Given the description of an element on the screen output the (x, y) to click on. 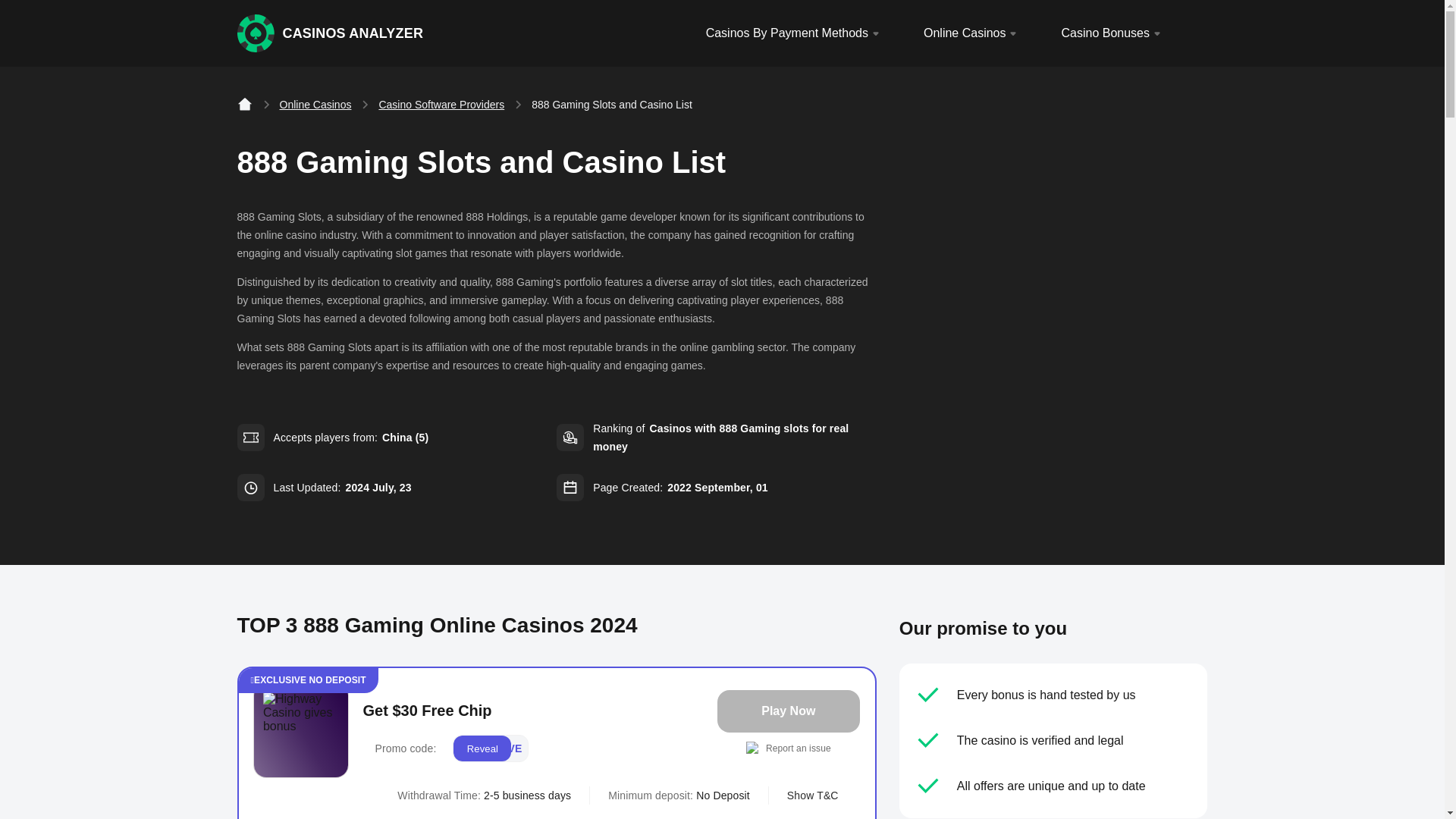
Highway Casino (300, 729)
Casinos By Payment Methods (794, 33)
CANADIAN CASINOS ANALYZER (330, 33)
Casino Software Providers (440, 104)
Casino Bonuses (1112, 33)
888 Gaming Slots and Casino List (612, 104)
Online Casinos (972, 33)
Online Casinos (314, 104)
